Given the description of an element on the screen output the (x, y) to click on. 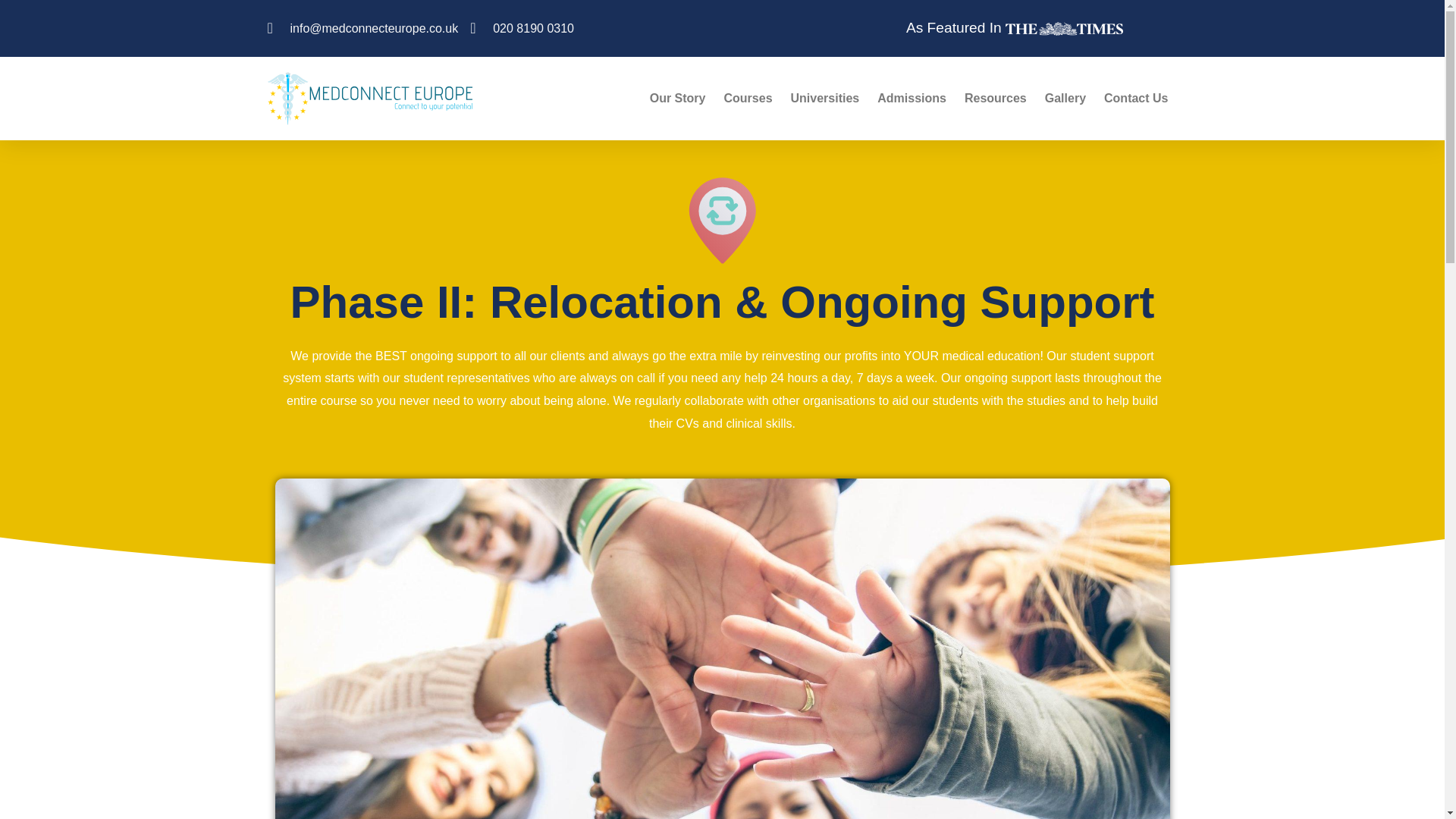
Our Story (677, 98)
Admissions (911, 98)
Courses (747, 98)
As Featured In (1013, 27)
Universities (825, 98)
